Given the description of an element on the screen output the (x, y) to click on. 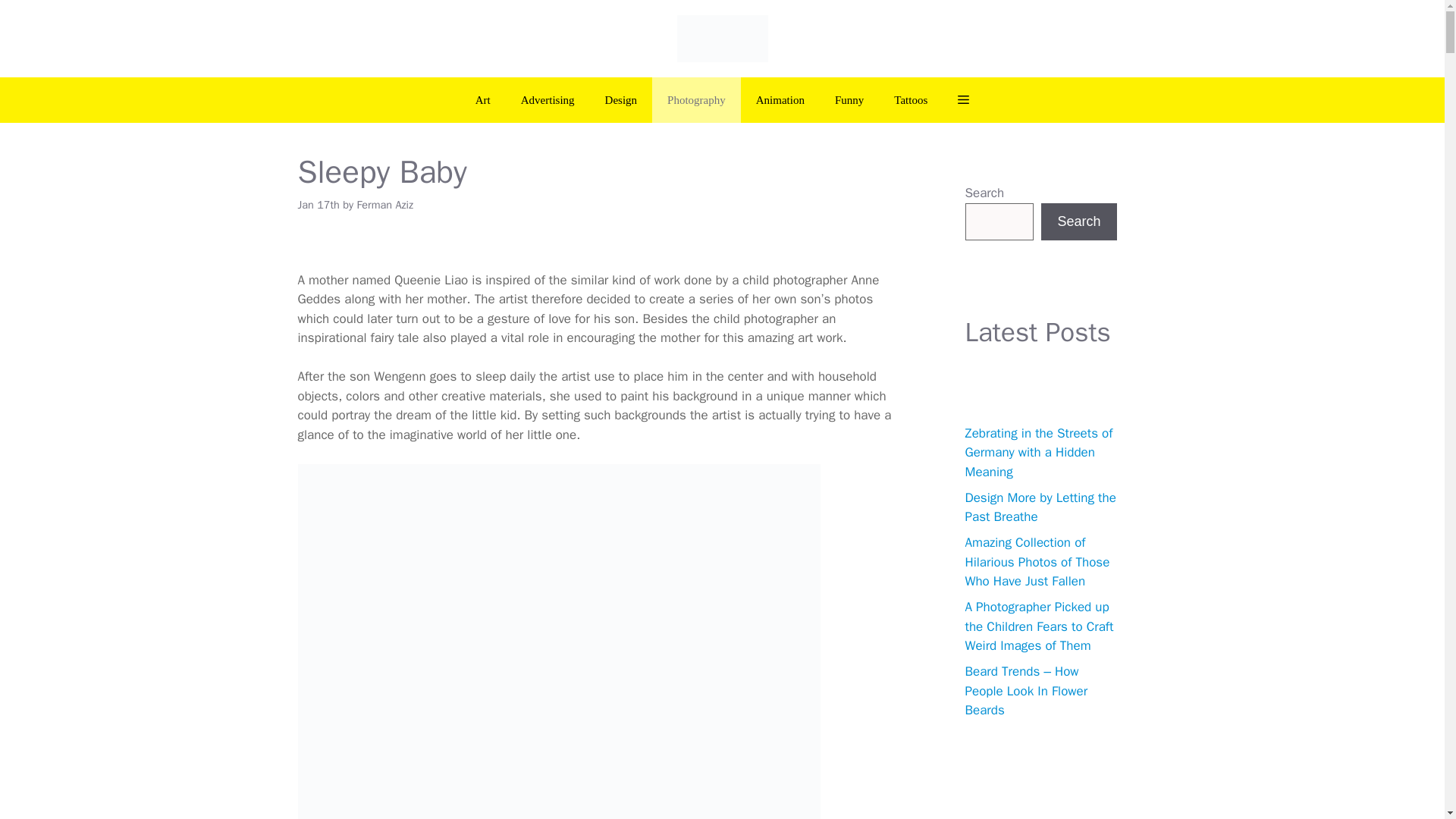
Animation (780, 99)
Ferman Aziz (384, 204)
Advertising (547, 99)
Photography (696, 99)
Art (482, 99)
Funny (849, 99)
Design (620, 99)
View all posts by Ferman Aziz (384, 204)
Tattoos (910, 99)
